Given the description of an element on the screen output the (x, y) to click on. 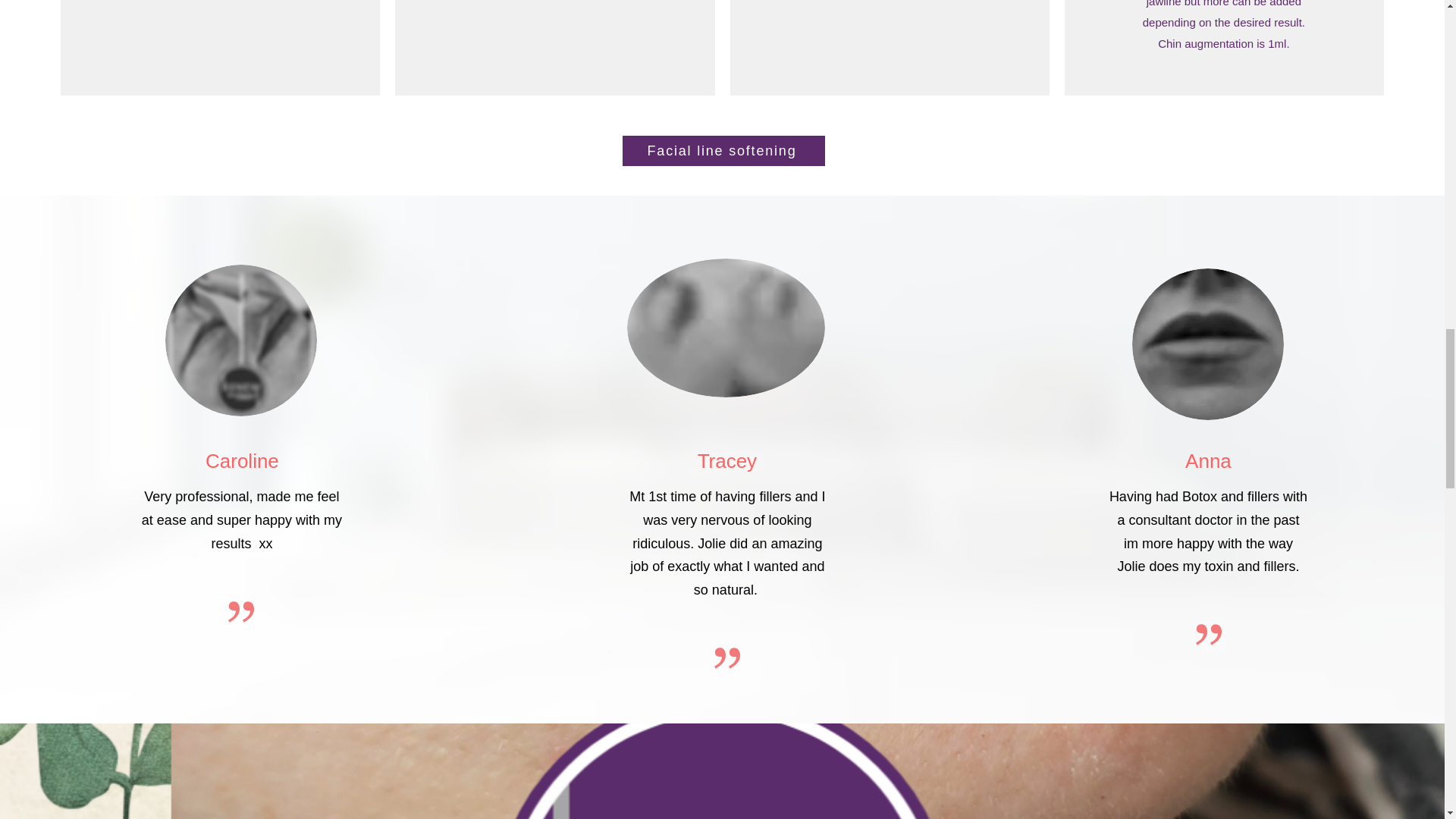
Facial line softening (722, 150)
GettyImages-535587703.jpg (241, 340)
GettyImages-145680711.jpg (1208, 344)
GettyImages-124893619.jpg (726, 327)
